Given the description of an element on the screen output the (x, y) to click on. 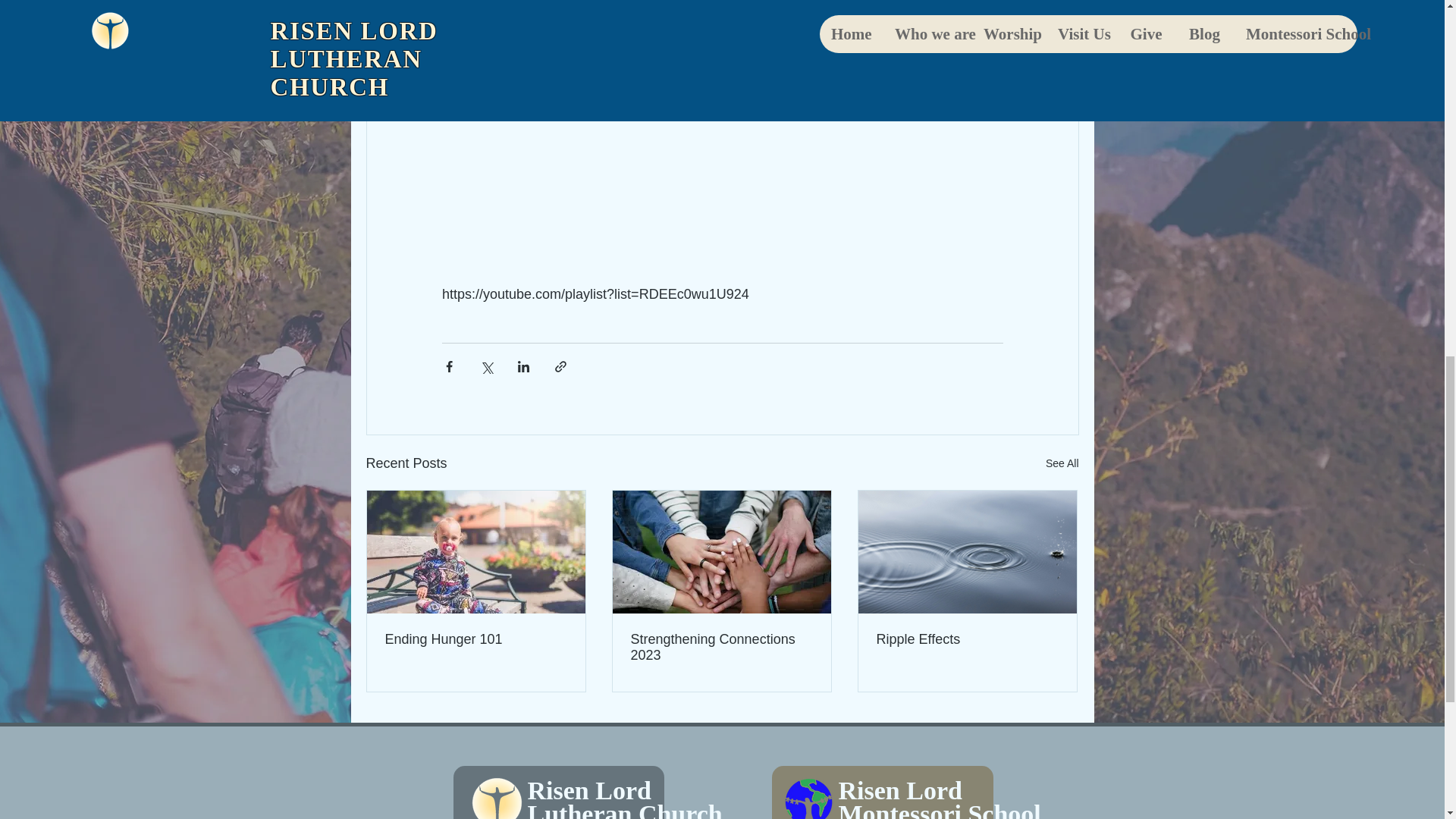
Ripple Effects (967, 639)
Strengthening Connections 2023 (721, 647)
Ending Hunger 101 (476, 639)
See All (1061, 463)
